Given the description of an element on the screen output the (x, y) to click on. 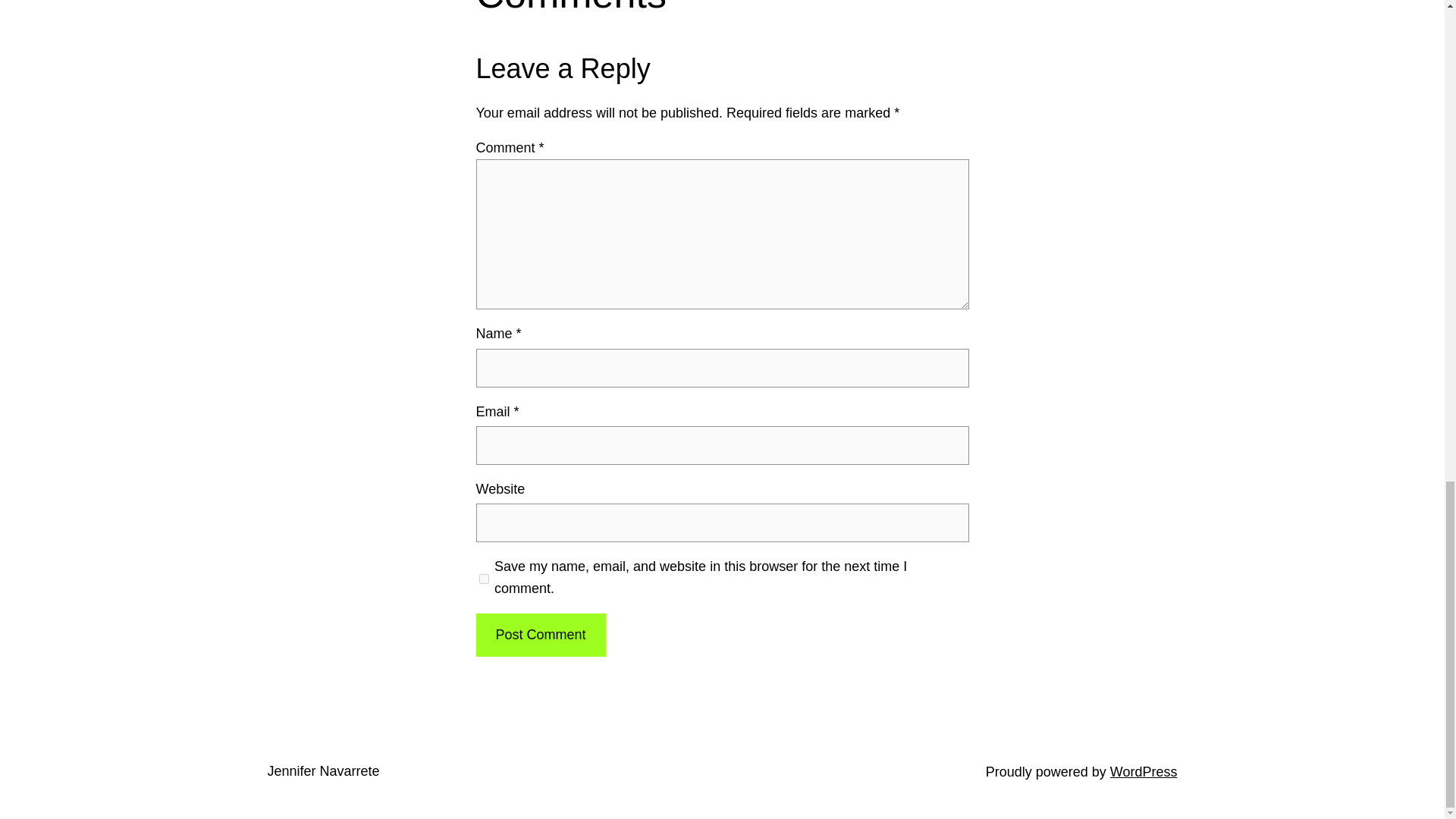
yes (484, 578)
WordPress (1143, 771)
Post Comment (540, 634)
Jennifer Navarrete (322, 770)
Post Comment (540, 634)
